Given the description of an element on the screen output the (x, y) to click on. 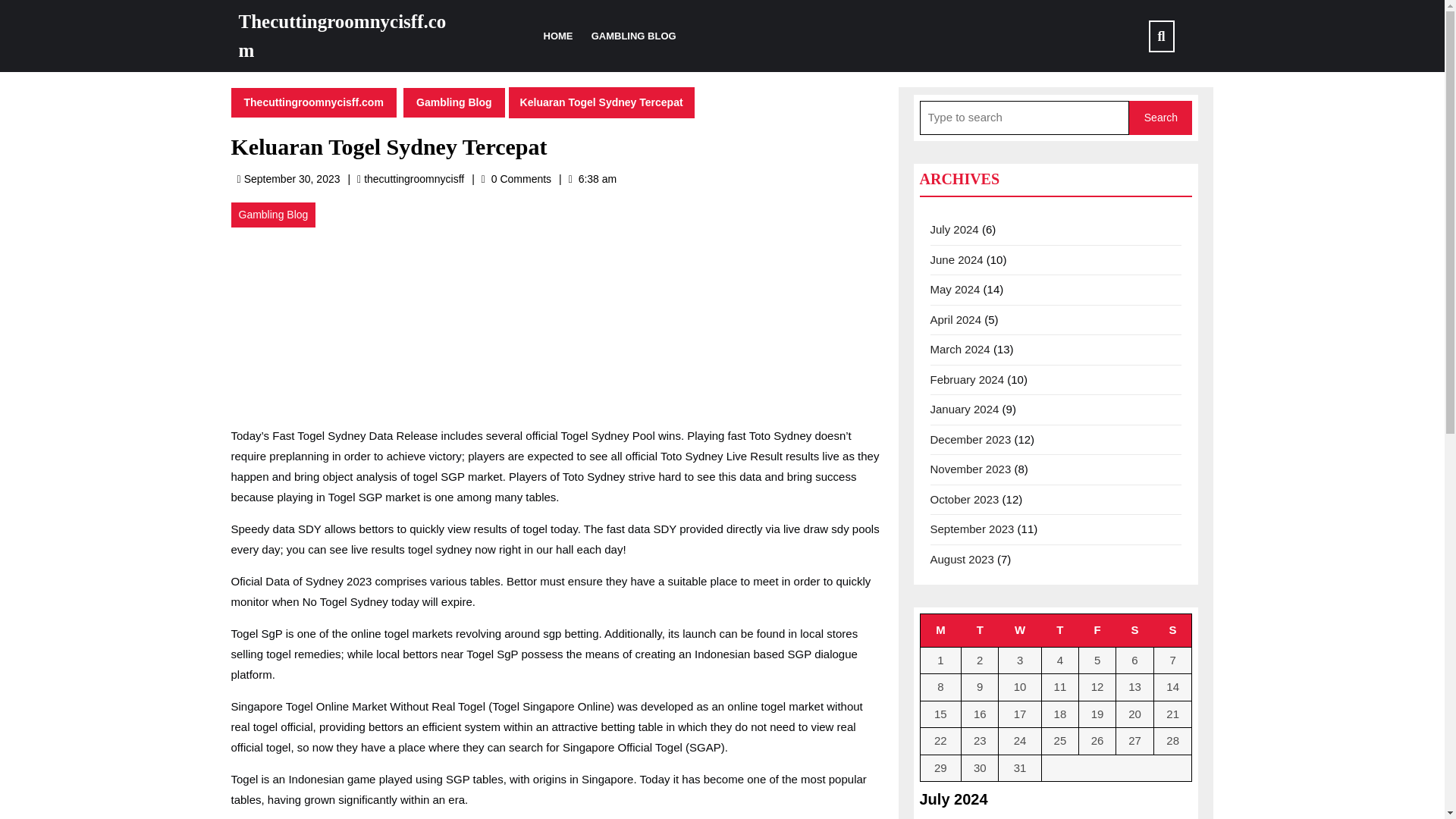
August 2023 (961, 558)
GAMBLING BLOG (634, 35)
Thecuttingroomnycisff.com (313, 102)
November 2023 (414, 178)
Saturday (970, 468)
April 2024 (1135, 630)
Tuesday (955, 318)
Friday (979, 630)
March 2024 (1097, 630)
May 2024 (960, 349)
February 2024 (954, 288)
September 2023 (967, 379)
July 2024 (971, 528)
Search (954, 228)
